Given the description of an element on the screen output the (x, y) to click on. 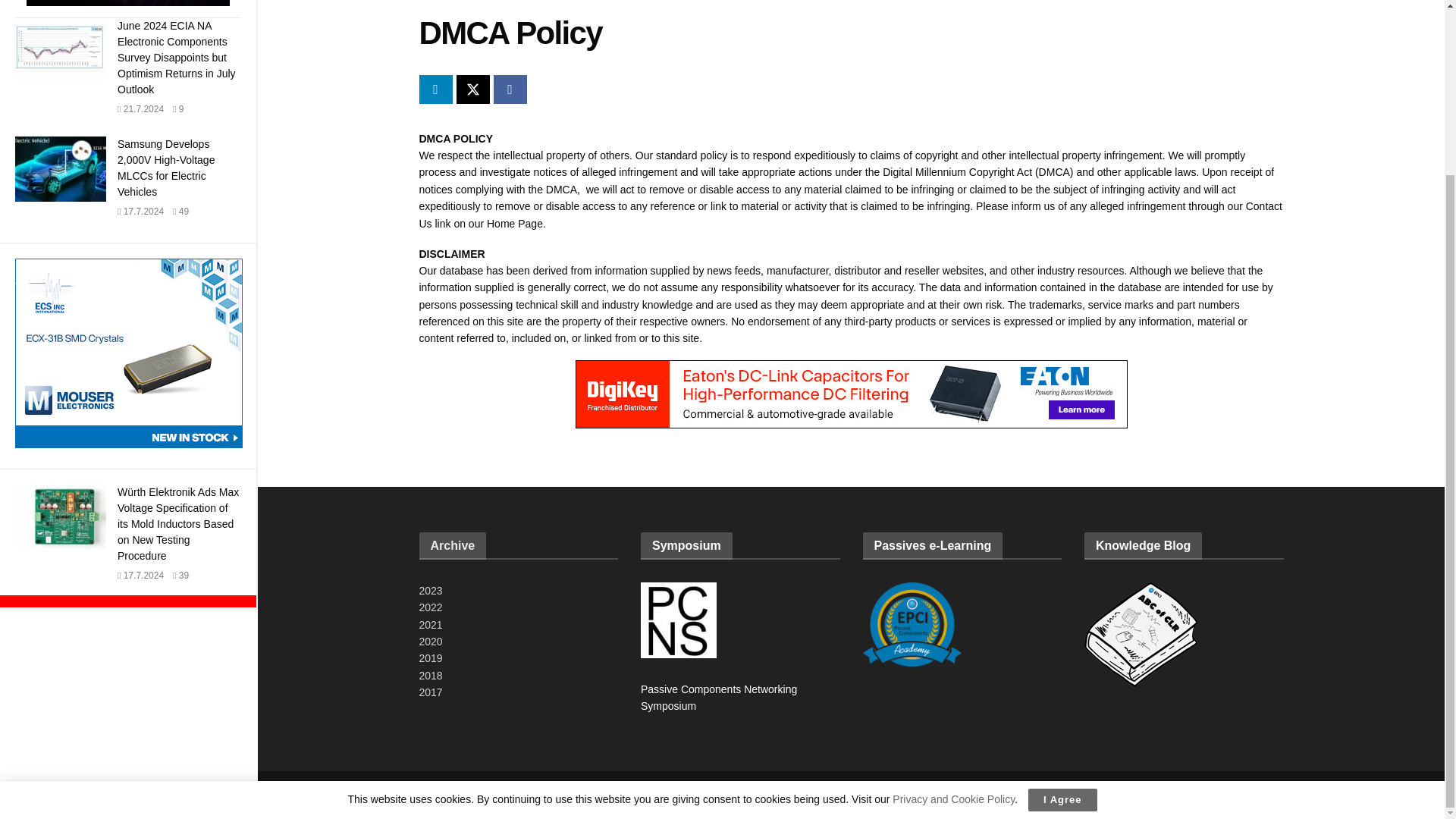
21.7.2024 (140, 109)
advertisement (128, 352)
9 (178, 109)
39 (181, 575)
European Passive Components Institute (438, 794)
17.7.2024 (140, 575)
49 (181, 211)
17.7.2024 (140, 211)
